Given the description of an element on the screen output the (x, y) to click on. 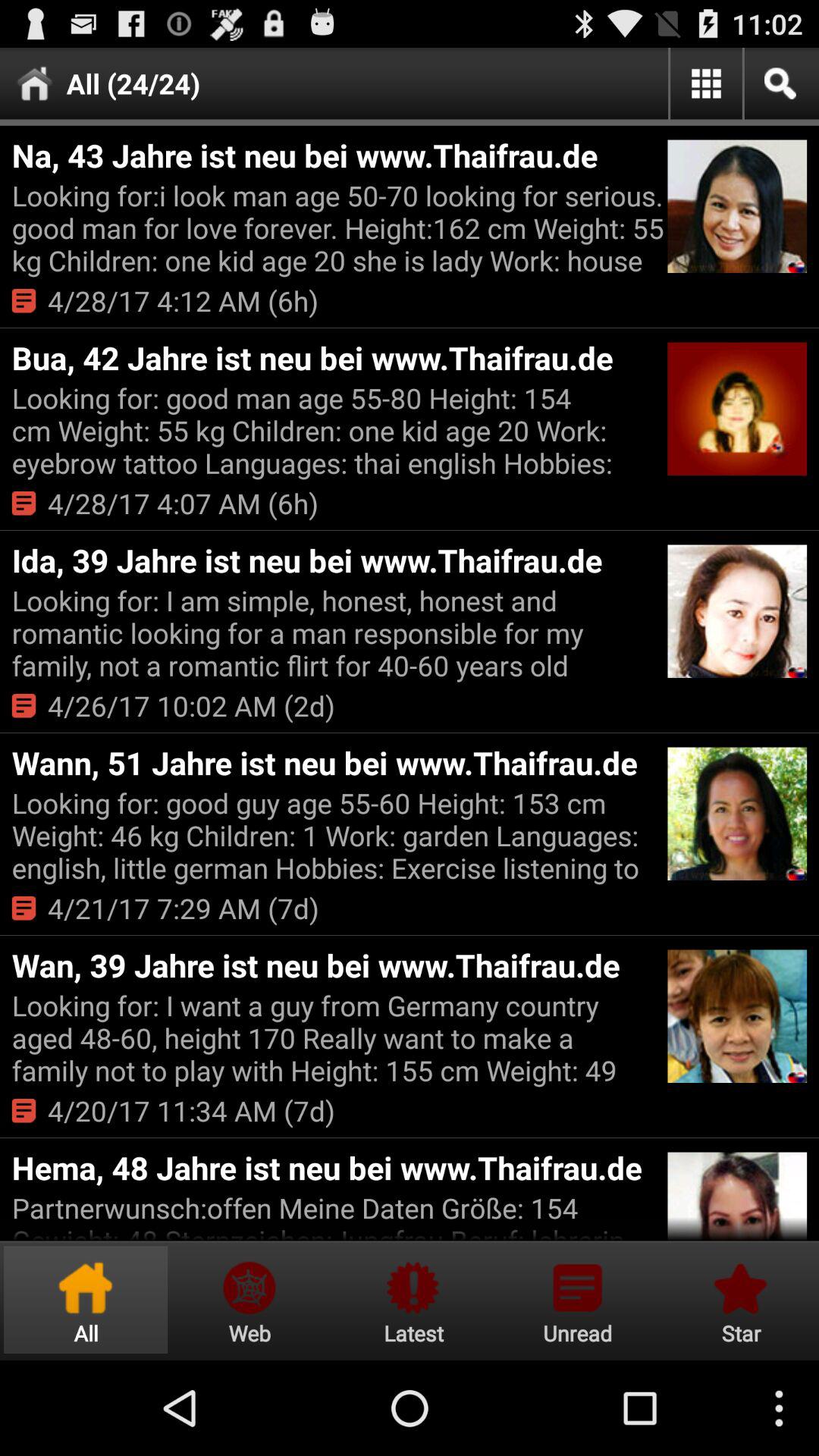
rate of quality (739, 1299)
